Given the description of an element on the screen output the (x, y) to click on. 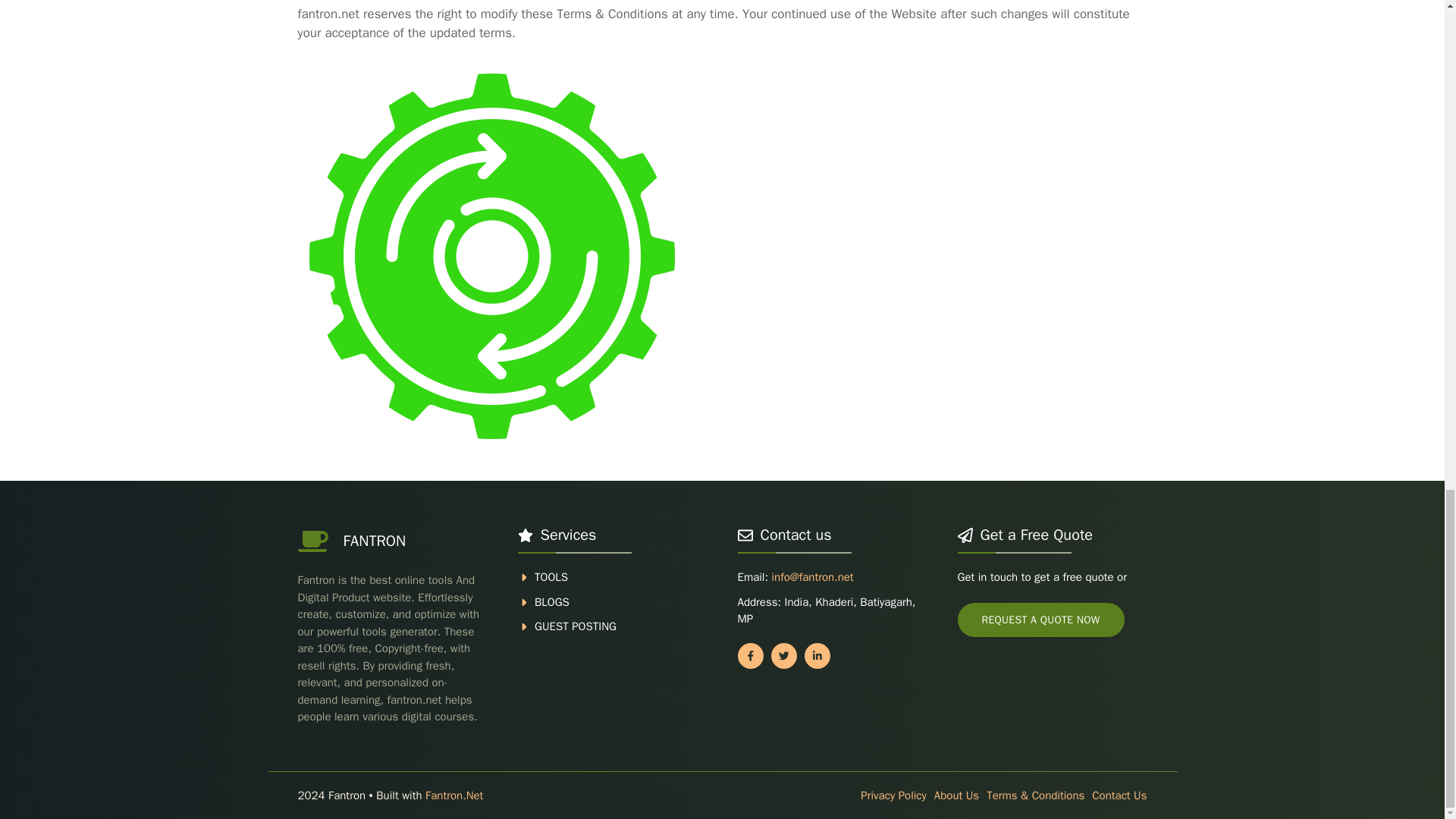
About Us (956, 795)
Fantron.Net (454, 795)
Contact Us (1119, 795)
Privacy Policy (893, 795)
TOOLS (550, 576)
REQUEST A QUOTE NOW (1040, 619)
Scroll back to top (1406, 306)
GUEST POSTING (574, 626)
BLOGS (551, 602)
